Given the description of an element on the screen output the (x, y) to click on. 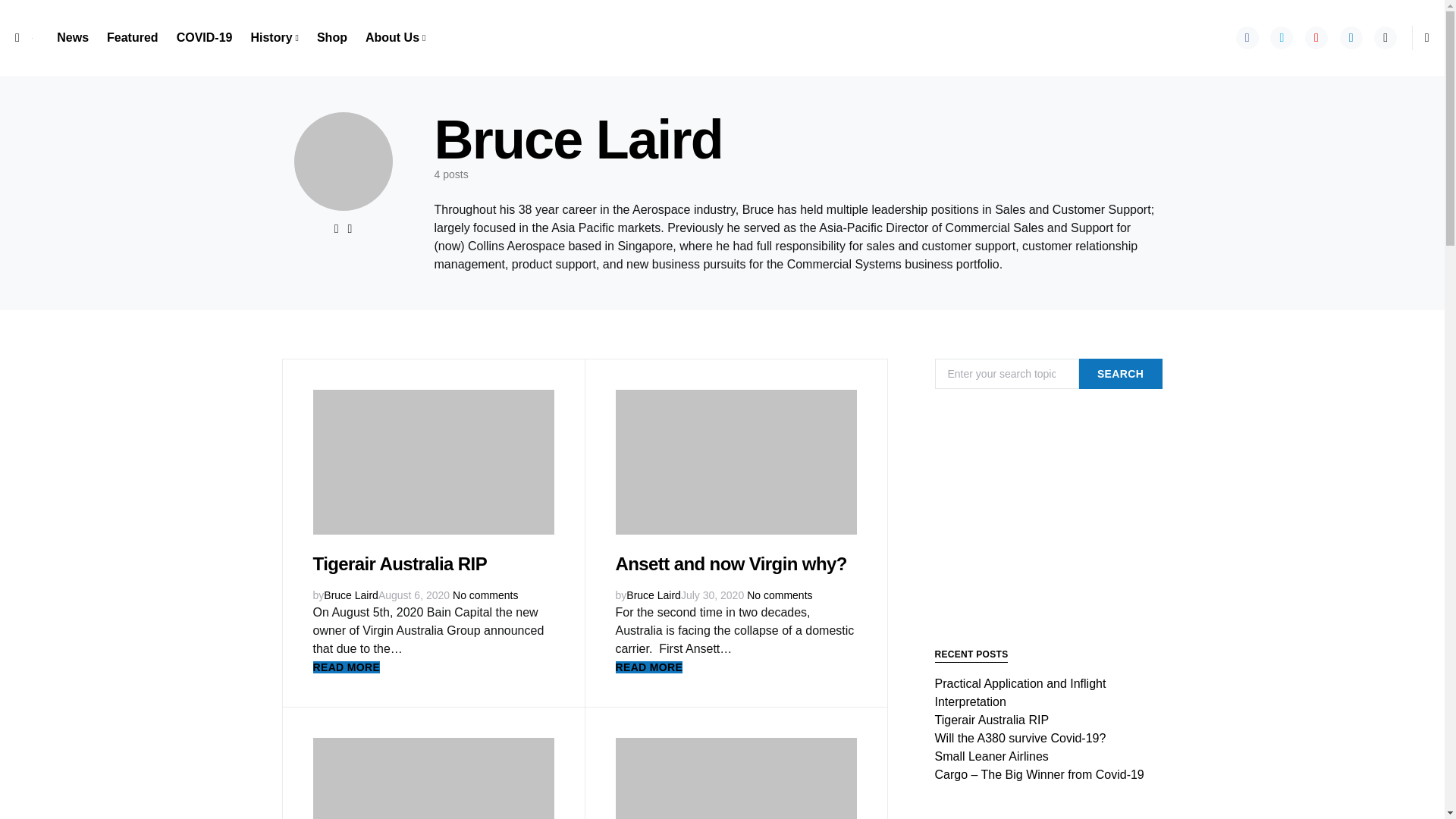
Featured (132, 38)
COVID-19 (204, 38)
About Us (391, 38)
View all posts by Bruce Laird (653, 594)
View all posts by Bruce Laird (350, 594)
